Given the description of an element on the screen output the (x, y) to click on. 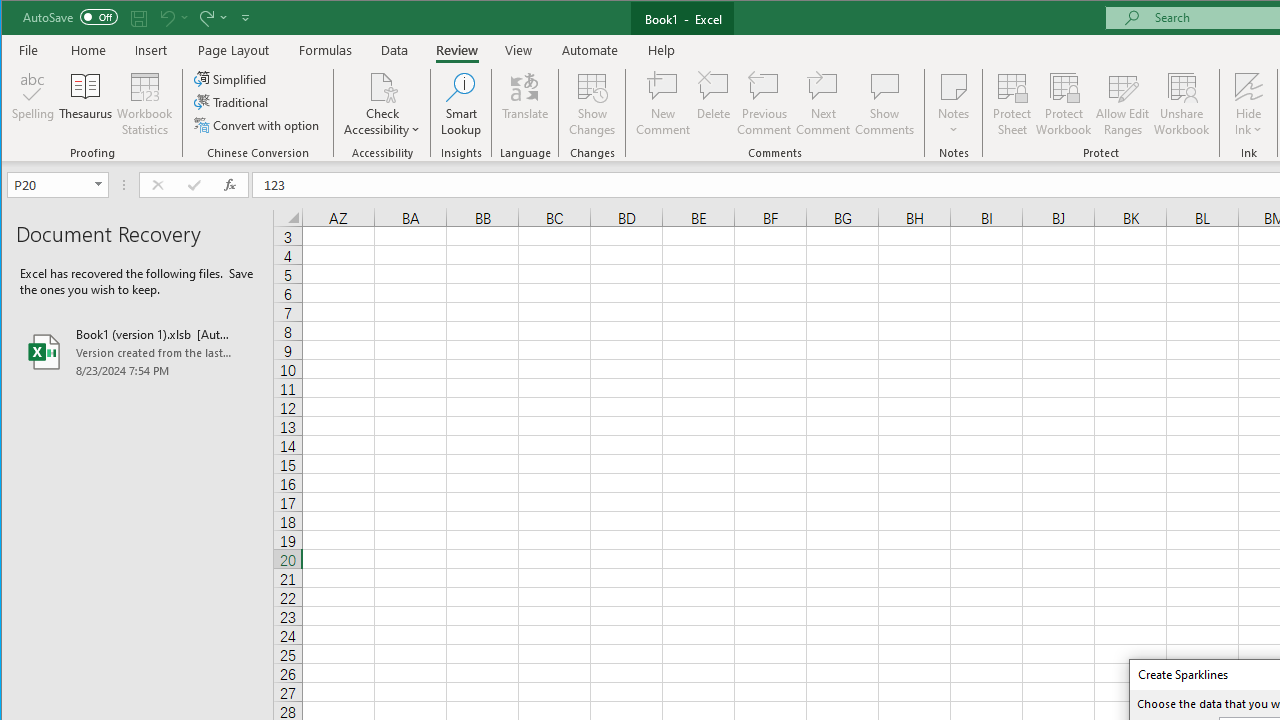
Unshare Workbook (1182, 104)
Notes (954, 104)
Check Accessibility (381, 104)
Thesaurus... (86, 104)
Next Comment (822, 104)
Smart Lookup (461, 104)
